Given the description of an element on the screen output the (x, y) to click on. 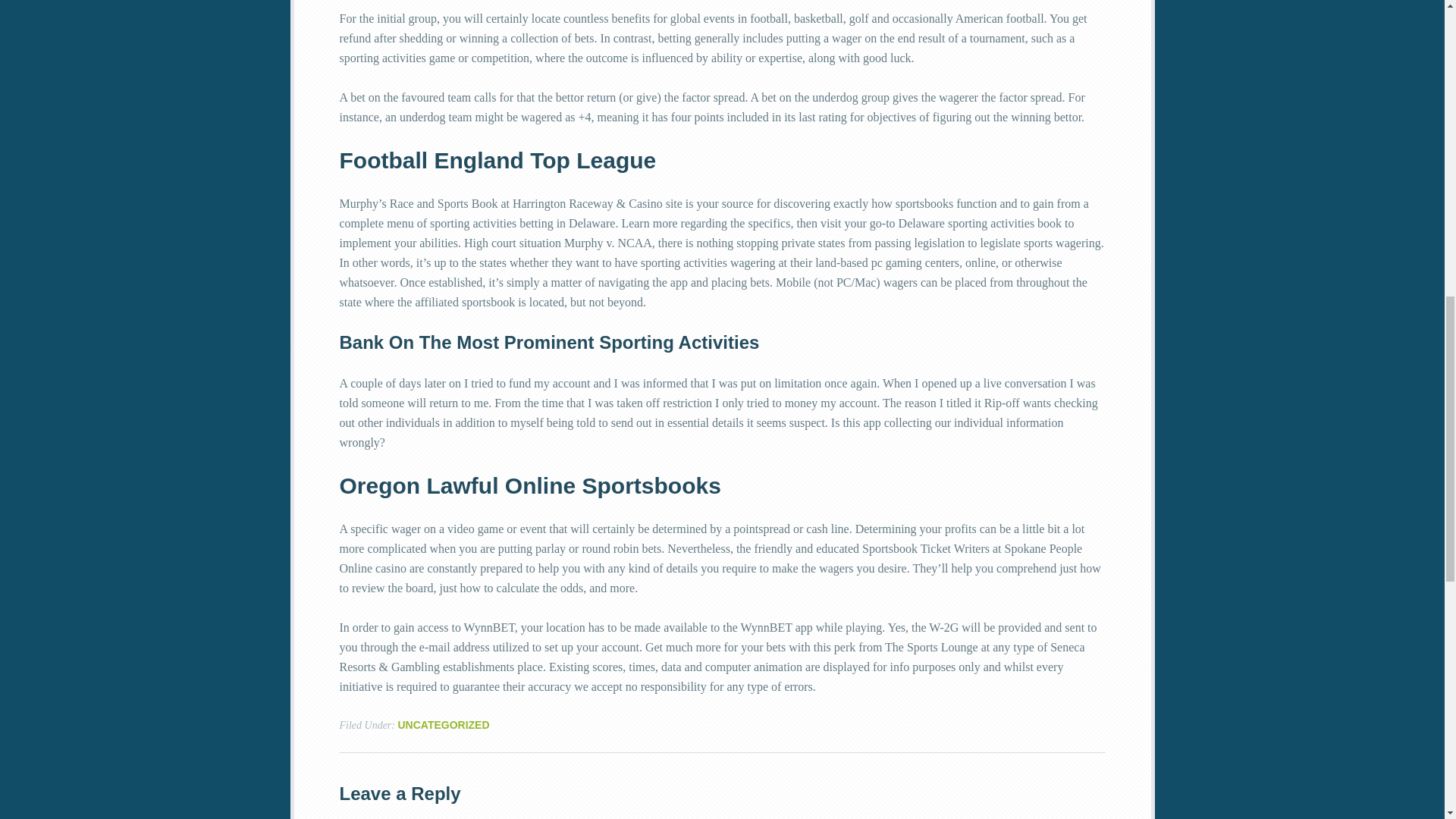
UNCATEGORIZED (443, 725)
